Given the description of an element on the screen output the (x, y) to click on. 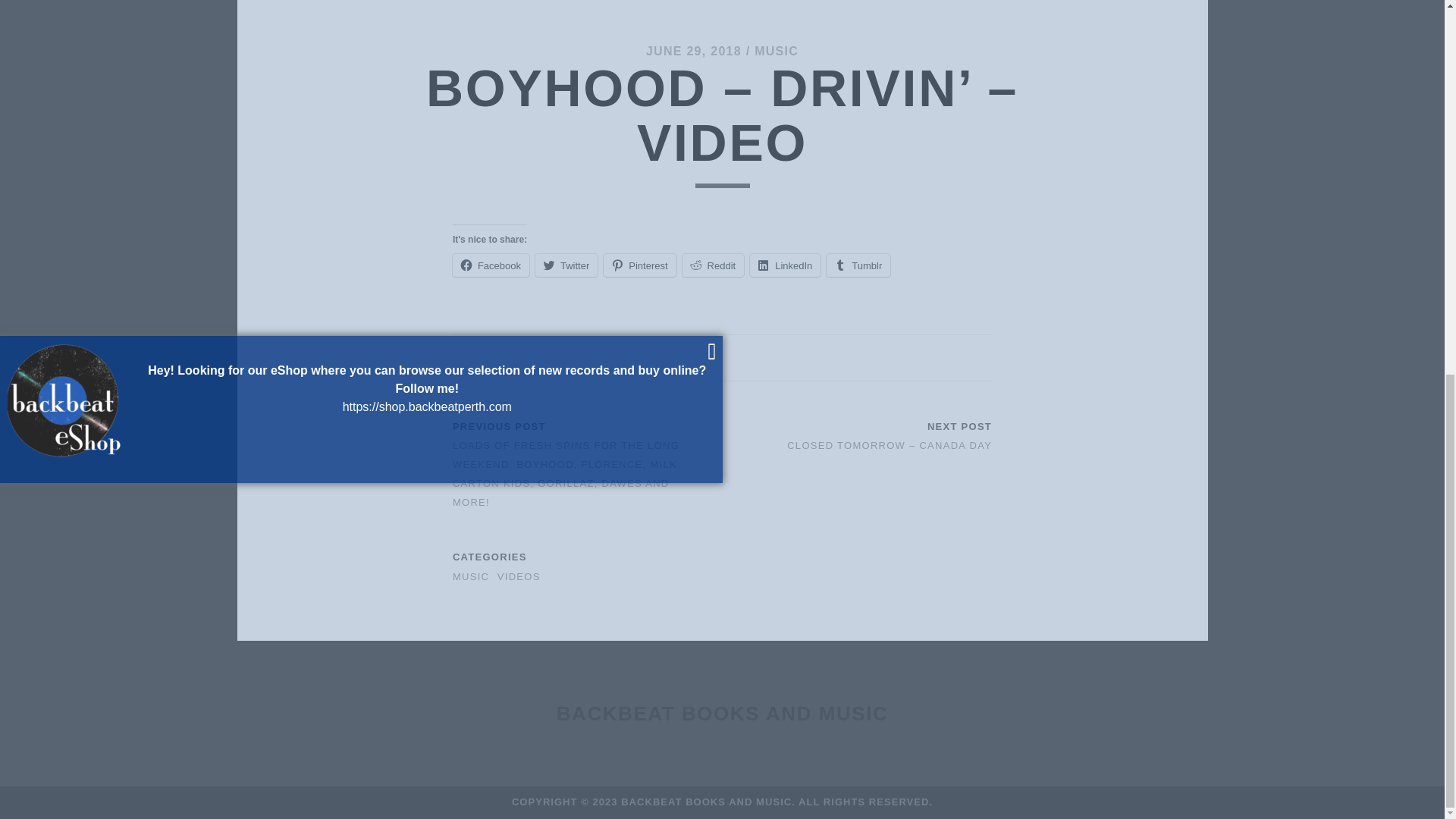
Click to share on Pinterest (639, 264)
VIDEOS (518, 576)
Click to share on Tumblr (858, 264)
Tumblr (858, 264)
Reddit (713, 264)
MUSIC (775, 51)
MUSIC (470, 576)
Click to share on Reddit (713, 264)
Twitter (565, 264)
Click to share on Facebook (490, 264)
